Given the description of an element on the screen output the (x, y) to click on. 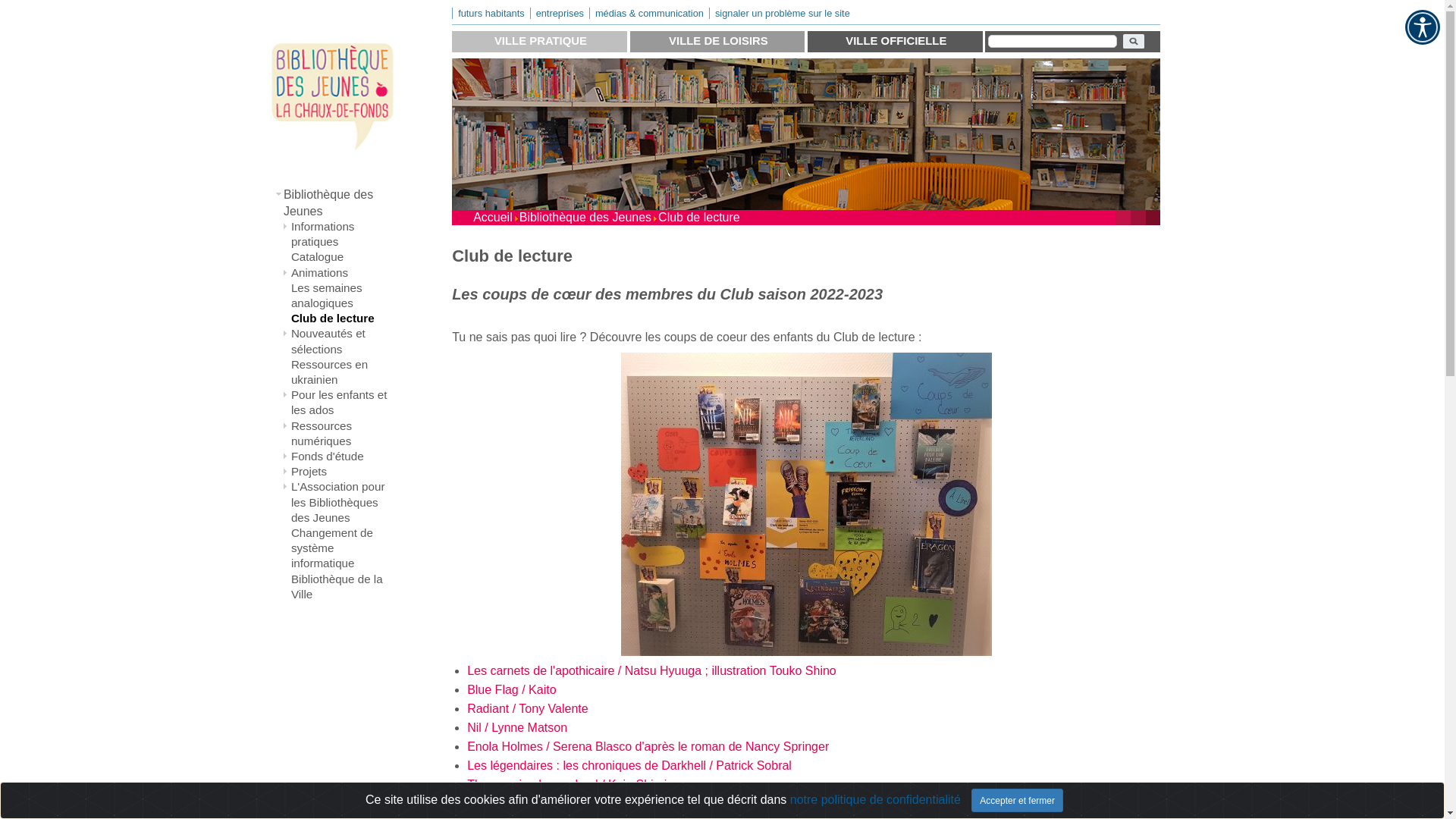
Radiant / Tony Valente Element type: text (527, 708)
Blue Flag / Kaito Element type: text (511, 689)
entreprises Element type: text (559, 12)
futurs habitants Element type: text (490, 12)
Ressources en ukrainien Element type: text (342, 372)
rechercher Element type: hover (1052, 40)
Les semaines analogiques Element type: text (342, 295)
Animations Element type: text (342, 272)
Nil / Lynne Matson Element type: text (517, 727)
Accepter et fermer Element type: text (1017, 800)
Black justice 1.0 / Nicolas Feuz Element type: text (550, 803)
Projets Element type: text (342, 471)
The promised neverland / Kaiu Shirai Element type: text (566, 784)
Accueil Element type: text (492, 216)
Informations pratiques Element type: text (342, 234)
Catalogue Element type: text (342, 256)
Club de lecture Element type: text (342, 318)
rechercher Element type: hover (1133, 41)
BJ Element type: hover (806, 503)
Pour les enfants et les ados Element type: text (342, 402)
